Given the description of an element on the screen output the (x, y) to click on. 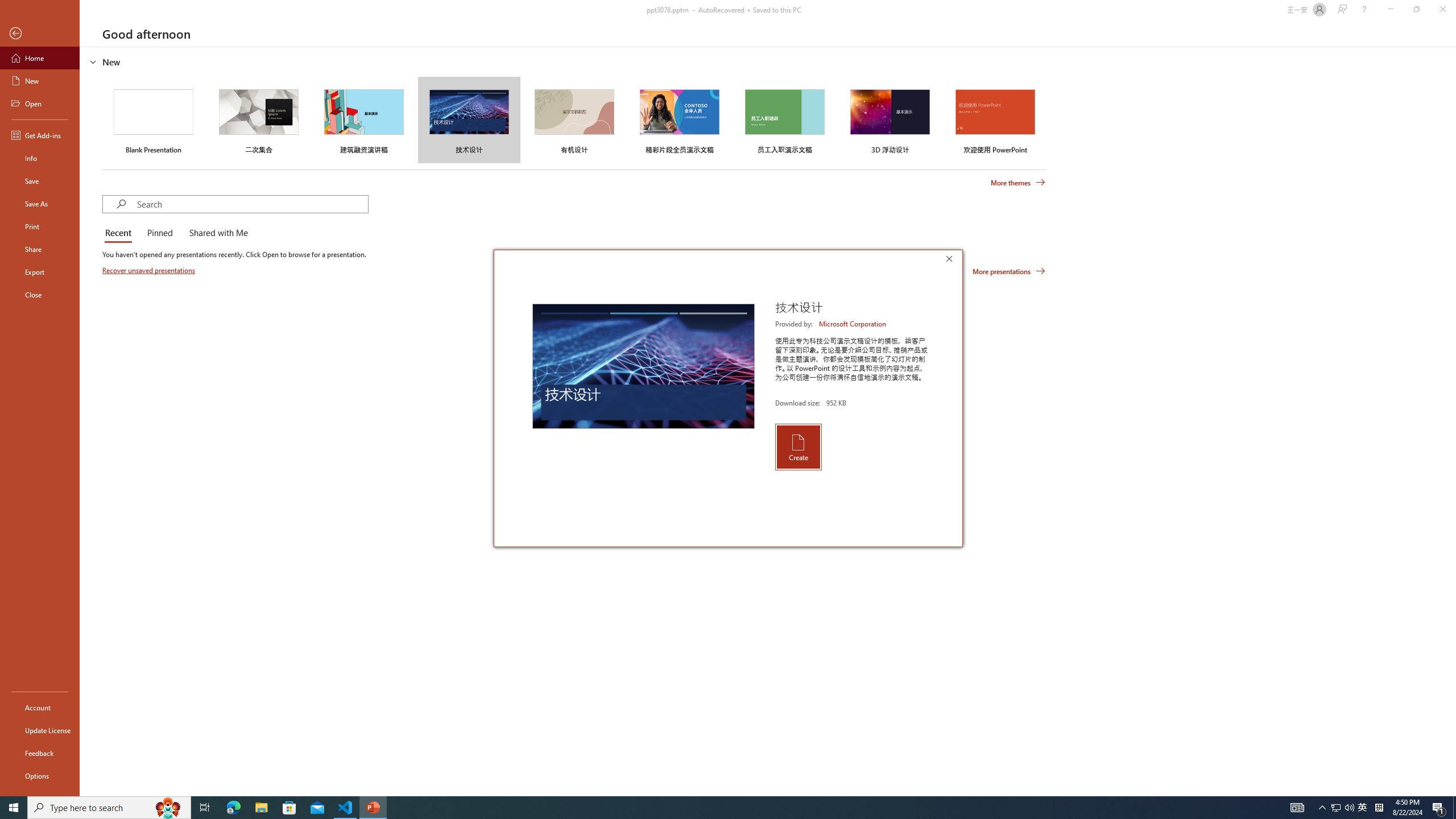
More themes (1018, 182)
Get Add-ins (40, 134)
Options (40, 775)
Update License (40, 730)
Print (40, 225)
Create (797, 446)
